Given the description of an element on the screen output the (x, y) to click on. 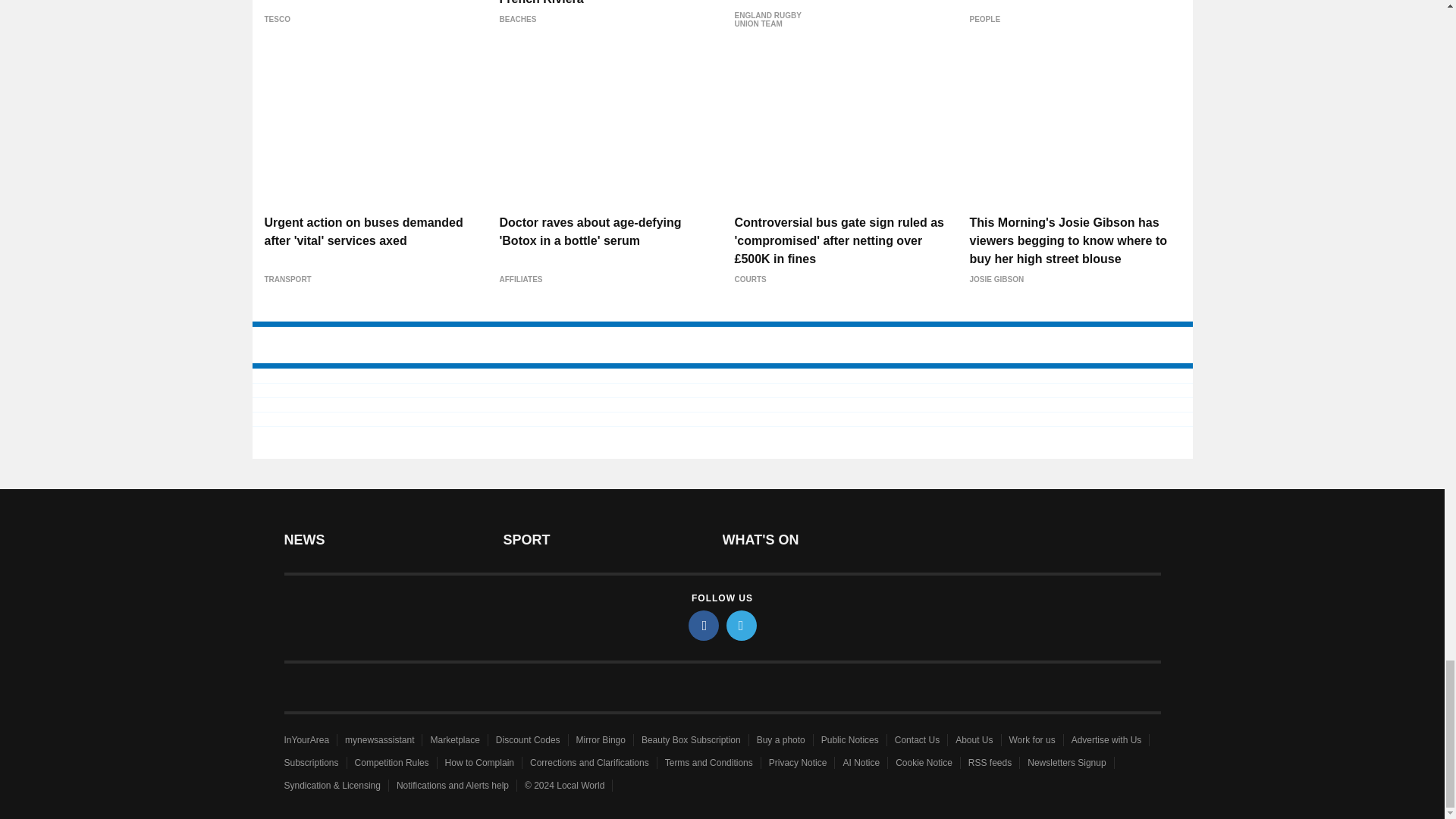
facebook (703, 625)
twitter (741, 625)
